Given the description of an element on the screen output the (x, y) to click on. 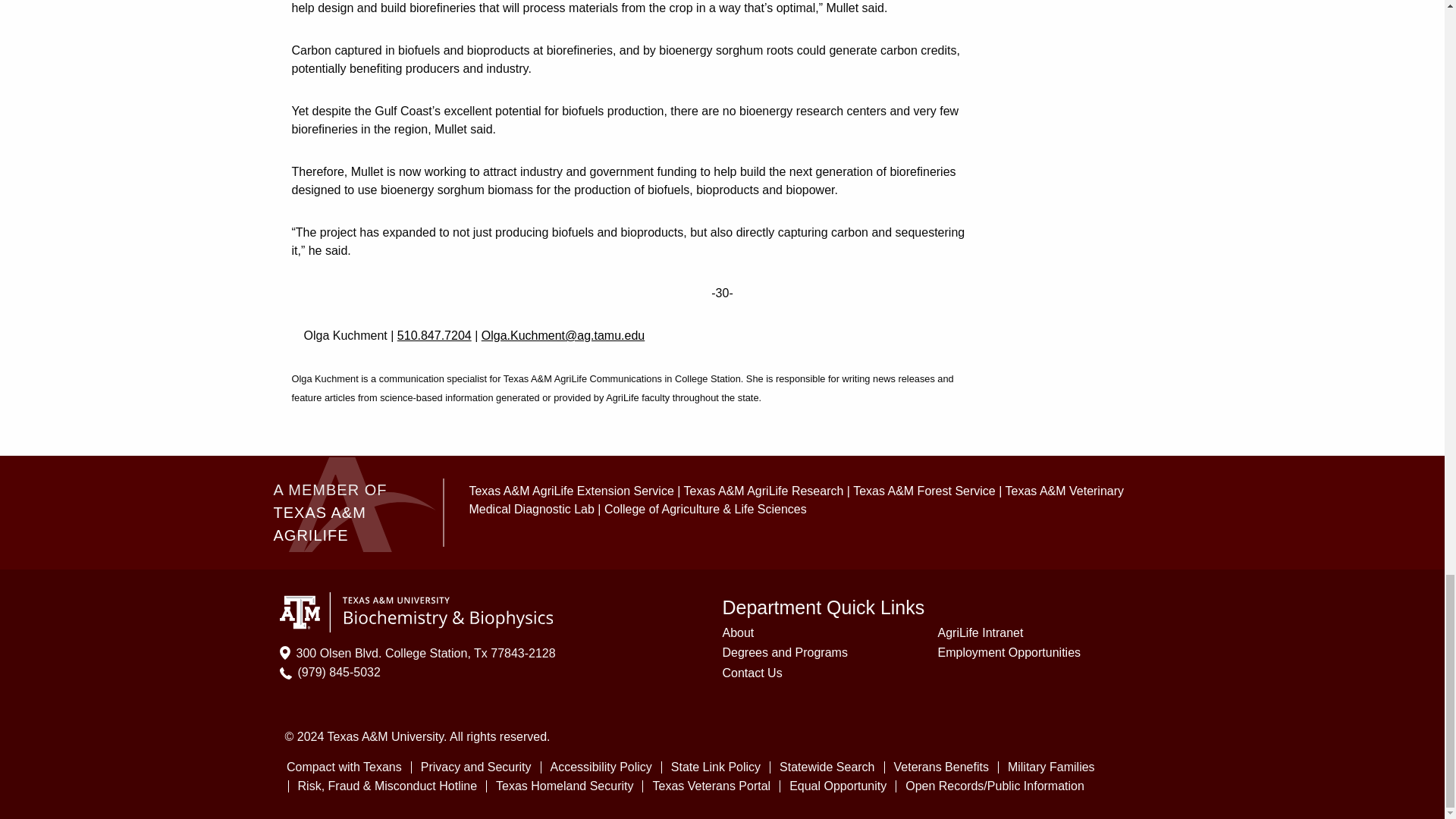
Department of Biochemistry and Biophysics (415, 611)
